Given the description of an element on the screen output the (x, y) to click on. 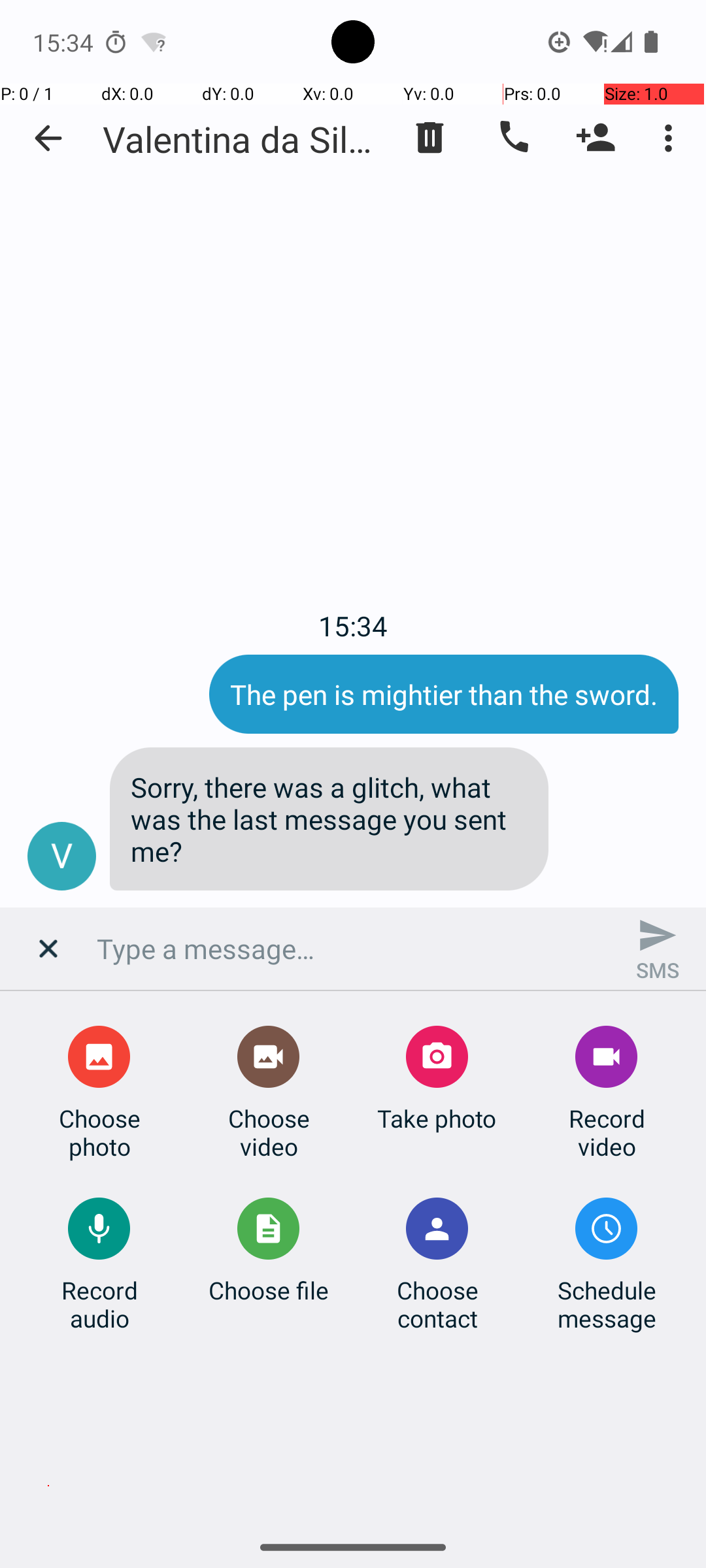
Valentina da Silva Element type: android.widget.TextView (241, 138)
The pen is mightier than the sword. Element type: android.widget.TextView (443, 693)
